Given the description of an element on the screen output the (x, y) to click on. 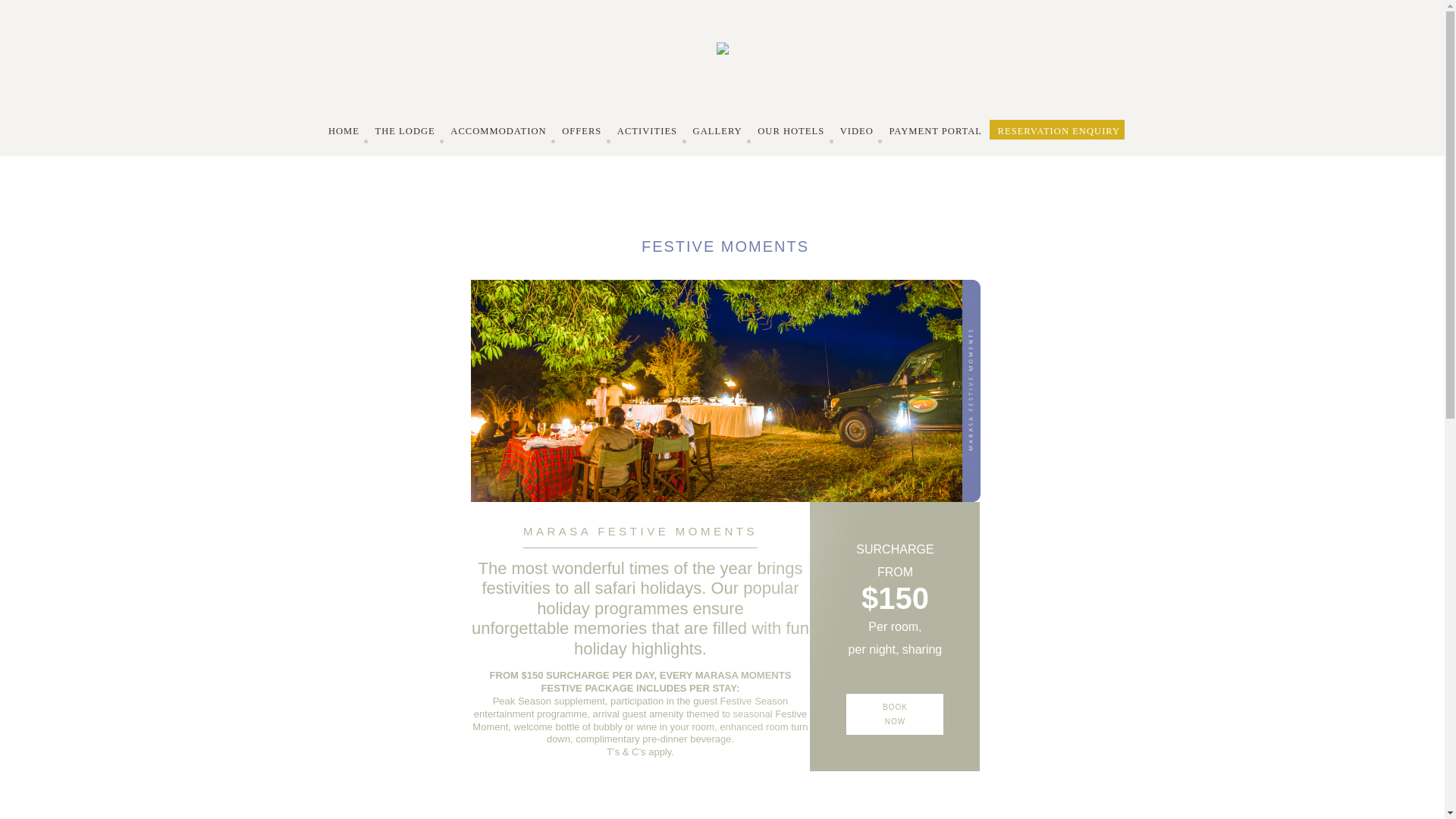
OUR HOTELS (791, 131)
VIDEO (857, 131)
OFFERS (581, 131)
BOOK NOW (894, 713)
THE LODGE (404, 131)
GALLERY (717, 131)
PAYMENT PORTAL (935, 131)
ACCOMMODATION (498, 131)
RESERVATION ENQUIRY (1059, 131)
